Given the description of an element on the screen output the (x, y) to click on. 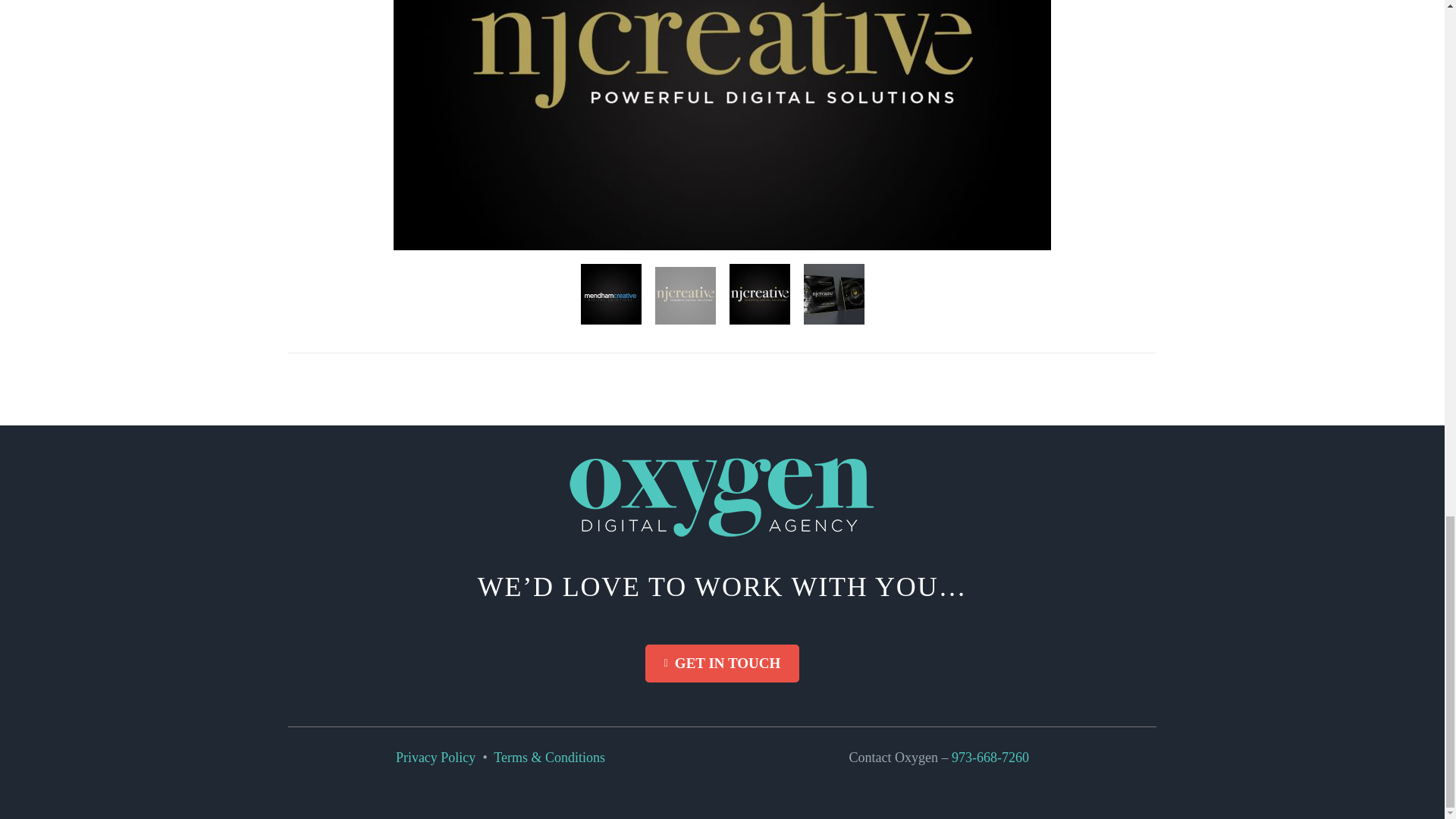
973-668-7260    (995, 757)
Privacy Policy (436, 757)
